Given the description of an element on the screen output the (x, y) to click on. 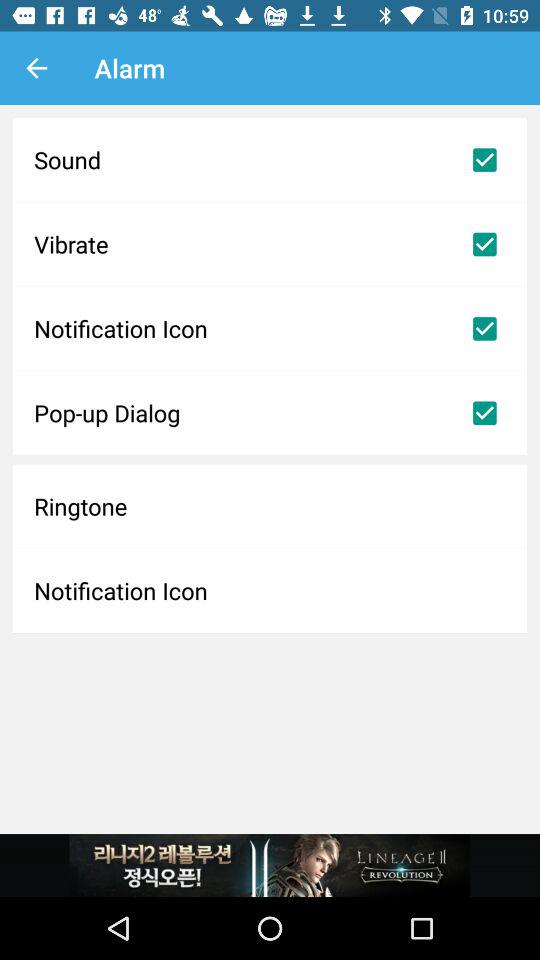
open the pop-up dialog item (269, 413)
